Given the description of an element on the screen output the (x, y) to click on. 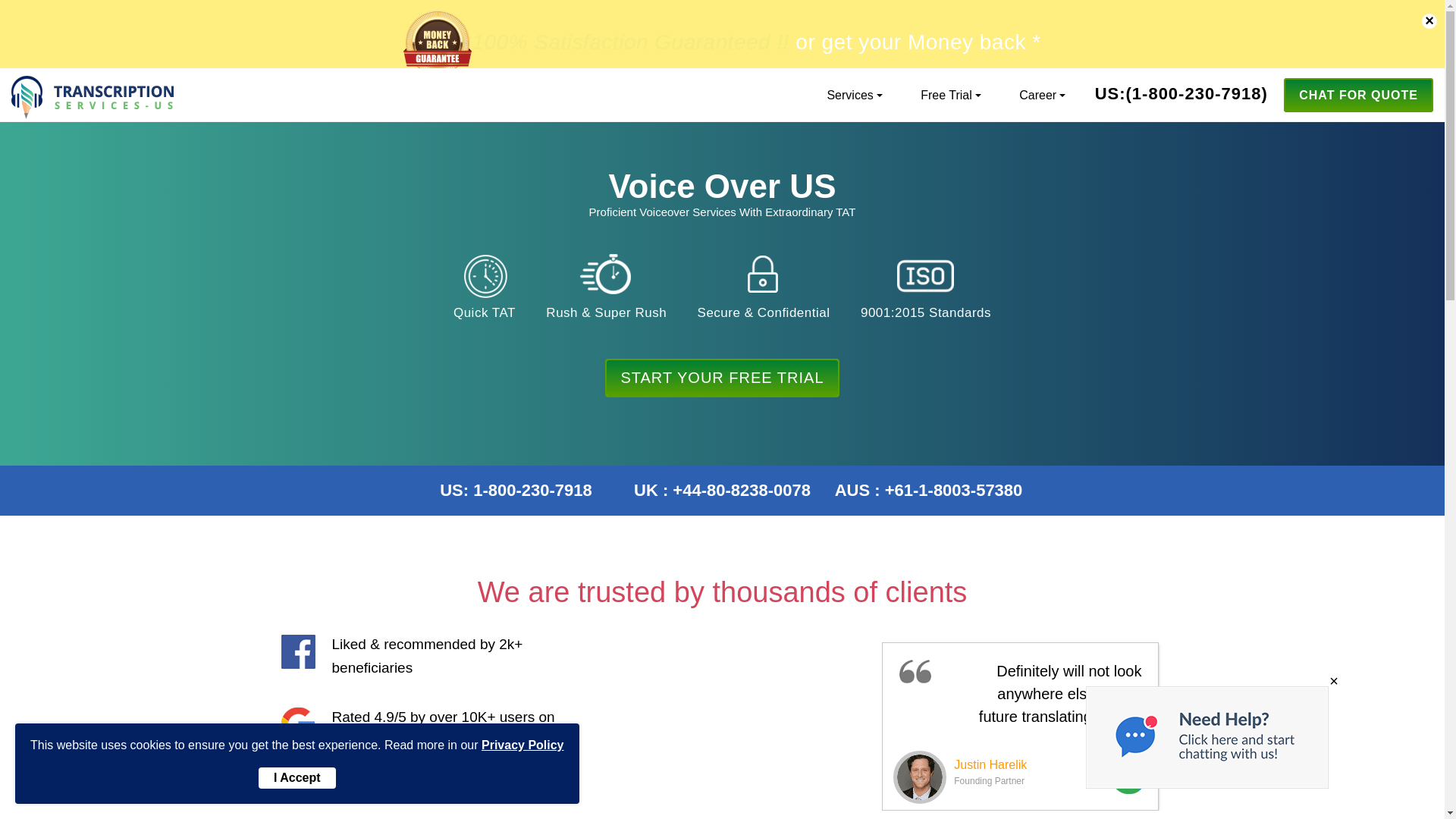
Services (849, 94)
